Given the description of an element on the screen output the (x, y) to click on. 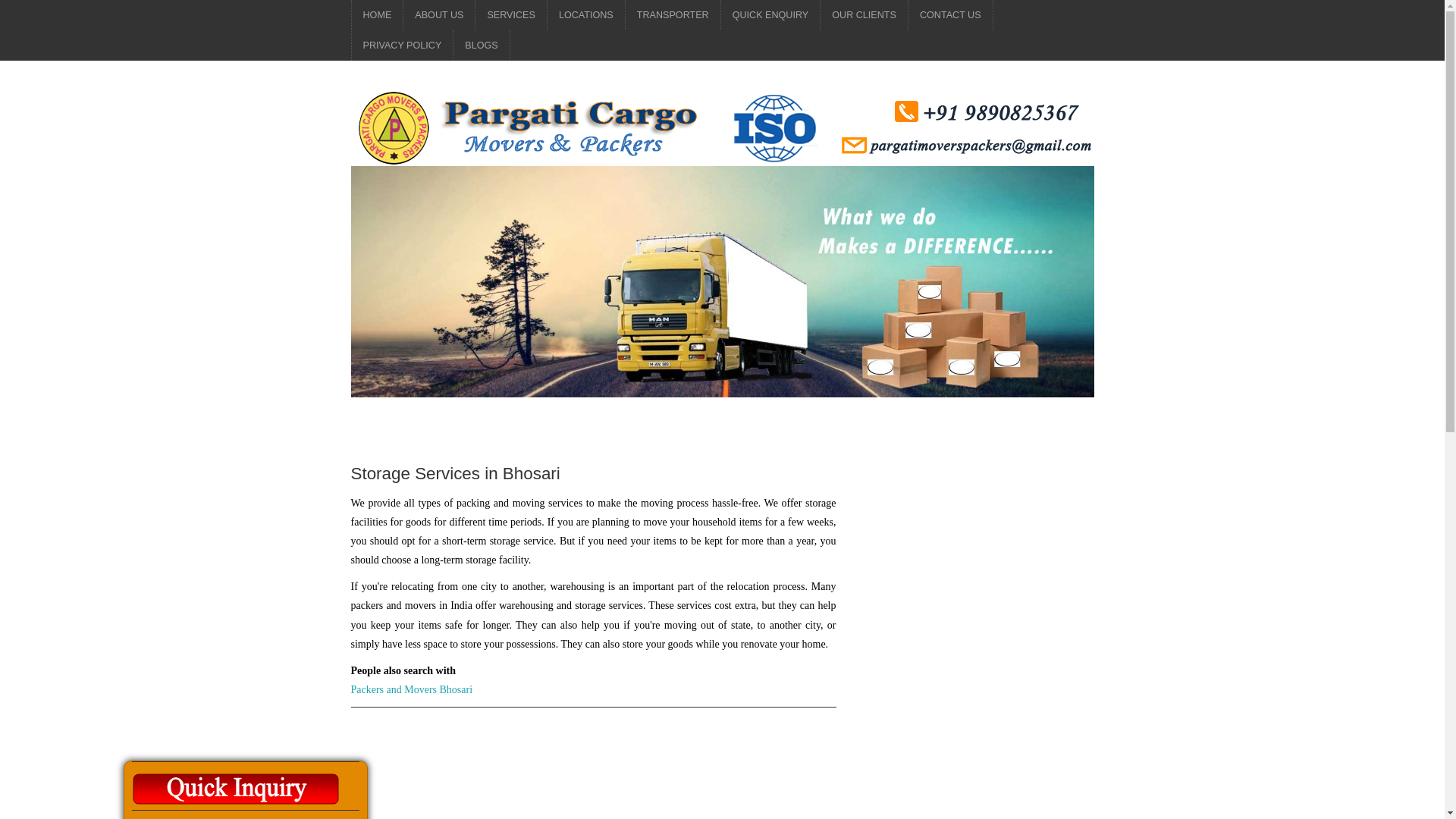
TRANSPORTER (673, 15)
SERVICES (511, 15)
OUR CLIENTS (864, 15)
HOME (377, 15)
PRIVACY POLICY (402, 45)
ABOUT US (438, 15)
BLOGS (480, 45)
QUICK ENQUIRY (770, 15)
CONTACT US (950, 15)
LOCATIONS (585, 15)
